Given the description of an element on the screen output the (x, y) to click on. 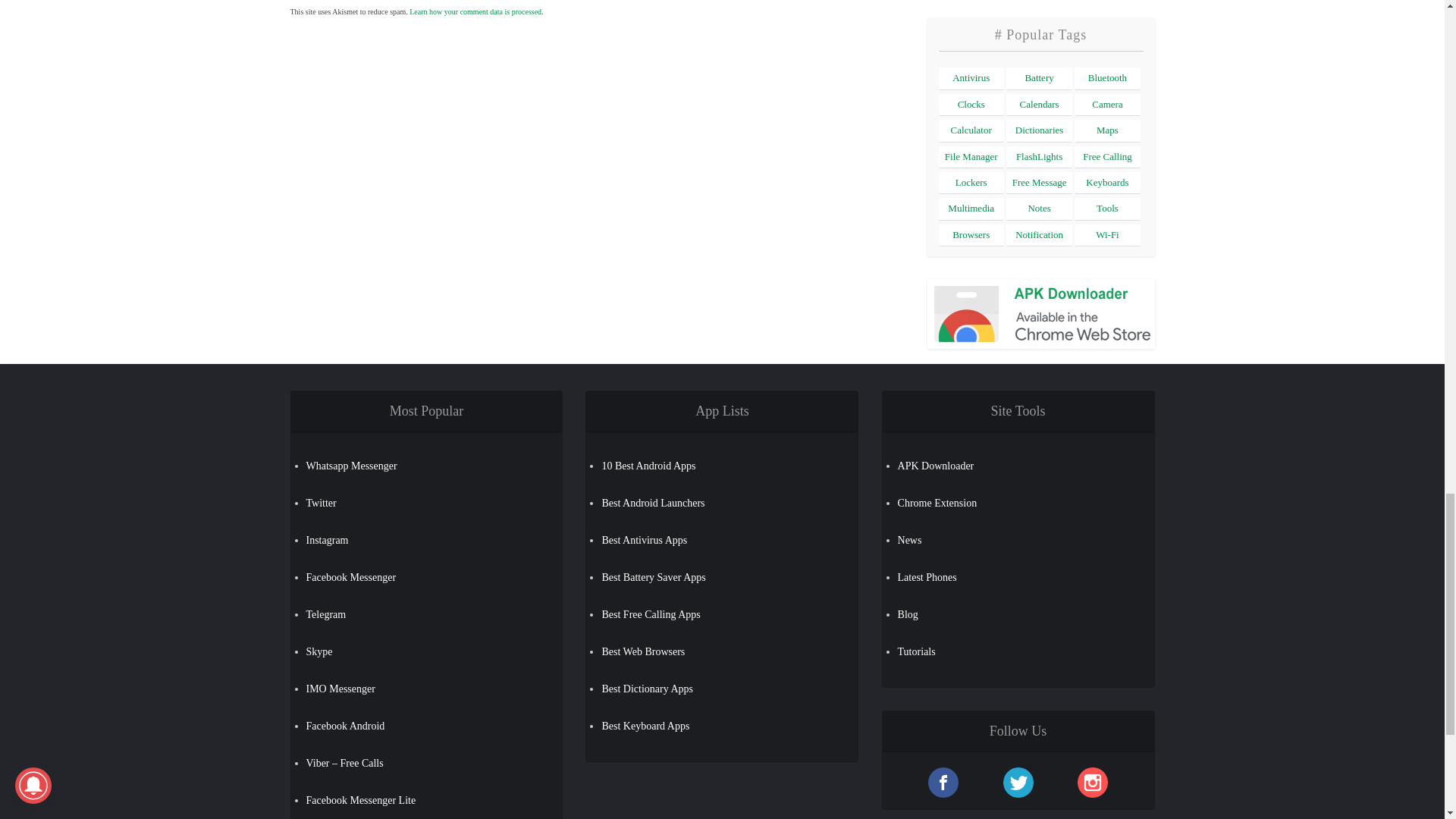
Learn how your comment data is processed (475, 11)
